Given the description of an element on the screen output the (x, y) to click on. 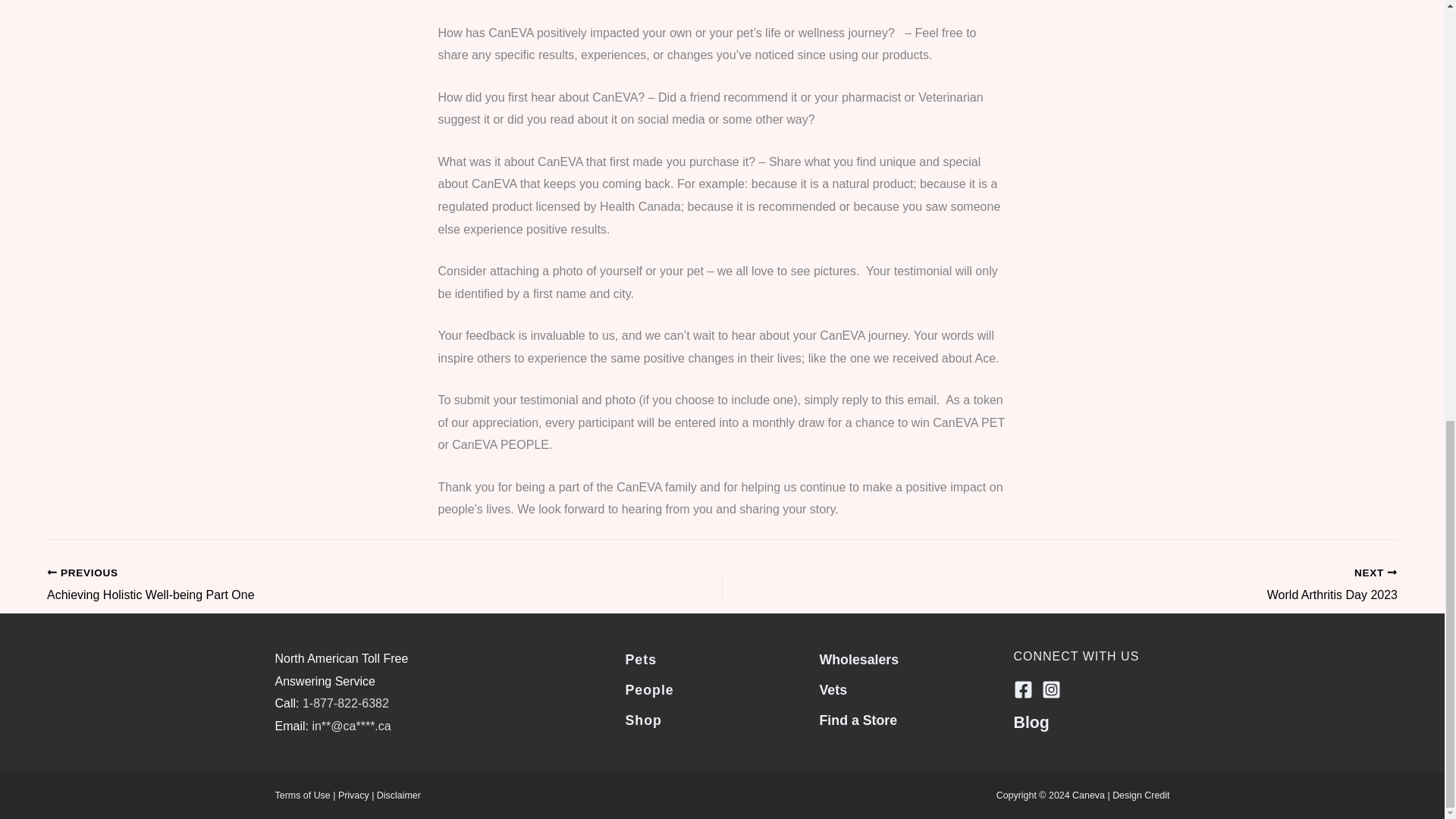
Find a Store (857, 720)
Terms of Use (302, 795)
People (1126, 585)
Privacy (648, 689)
Shop (353, 795)
World Arthritis Day 2023 (642, 720)
Disclaimer (1126, 585)
Wholesalers (398, 795)
